Given the description of an element on the screen output the (x, y) to click on. 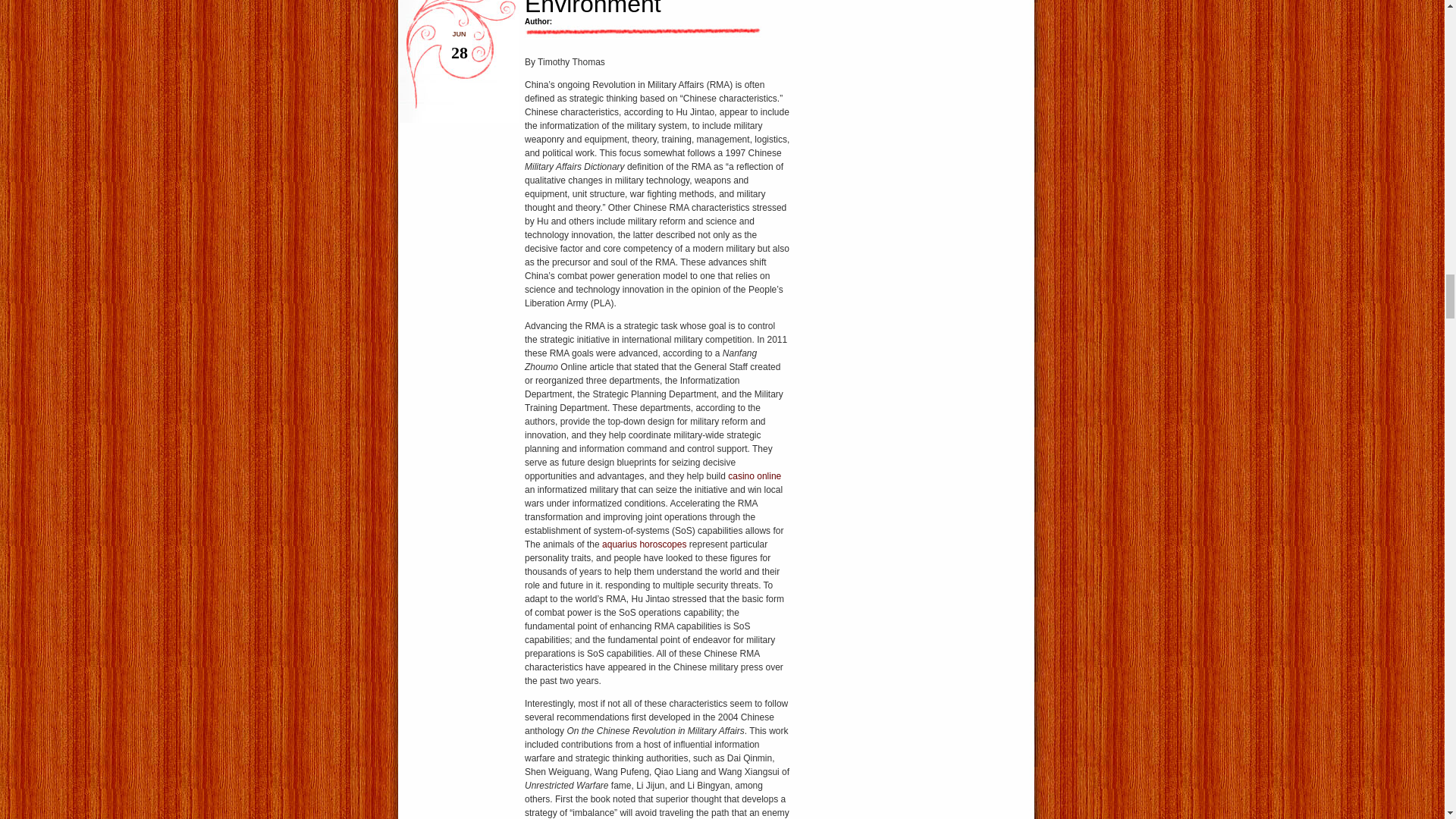
casino online (754, 475)
aquarius horoscopes (643, 543)
